Given the description of an element on the screen output the (x, y) to click on. 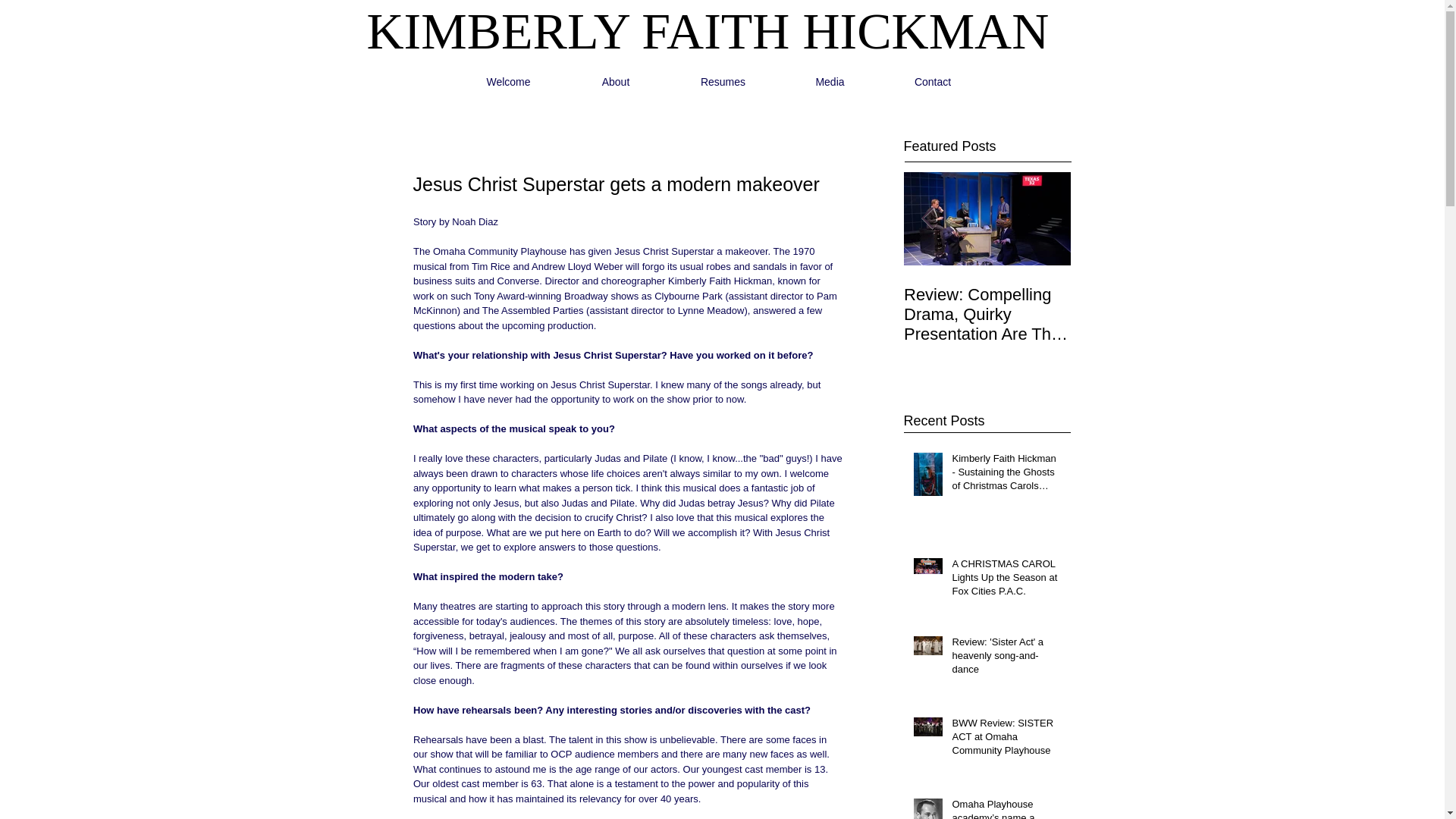
Review: 'Sister Act' a heavenly song-and-dance (1006, 659)
Media (829, 81)
A CHRISTMAS CAROL Lights Up the Season at Fox Cities P.A.C. (1006, 581)
Resumes (722, 81)
BWW Review: SISTER ACT at Omaha Community Playhouse (1006, 740)
About (615, 81)
Contact (933, 81)
Welcome (507, 81)
